Given the description of an element on the screen output the (x, y) to click on. 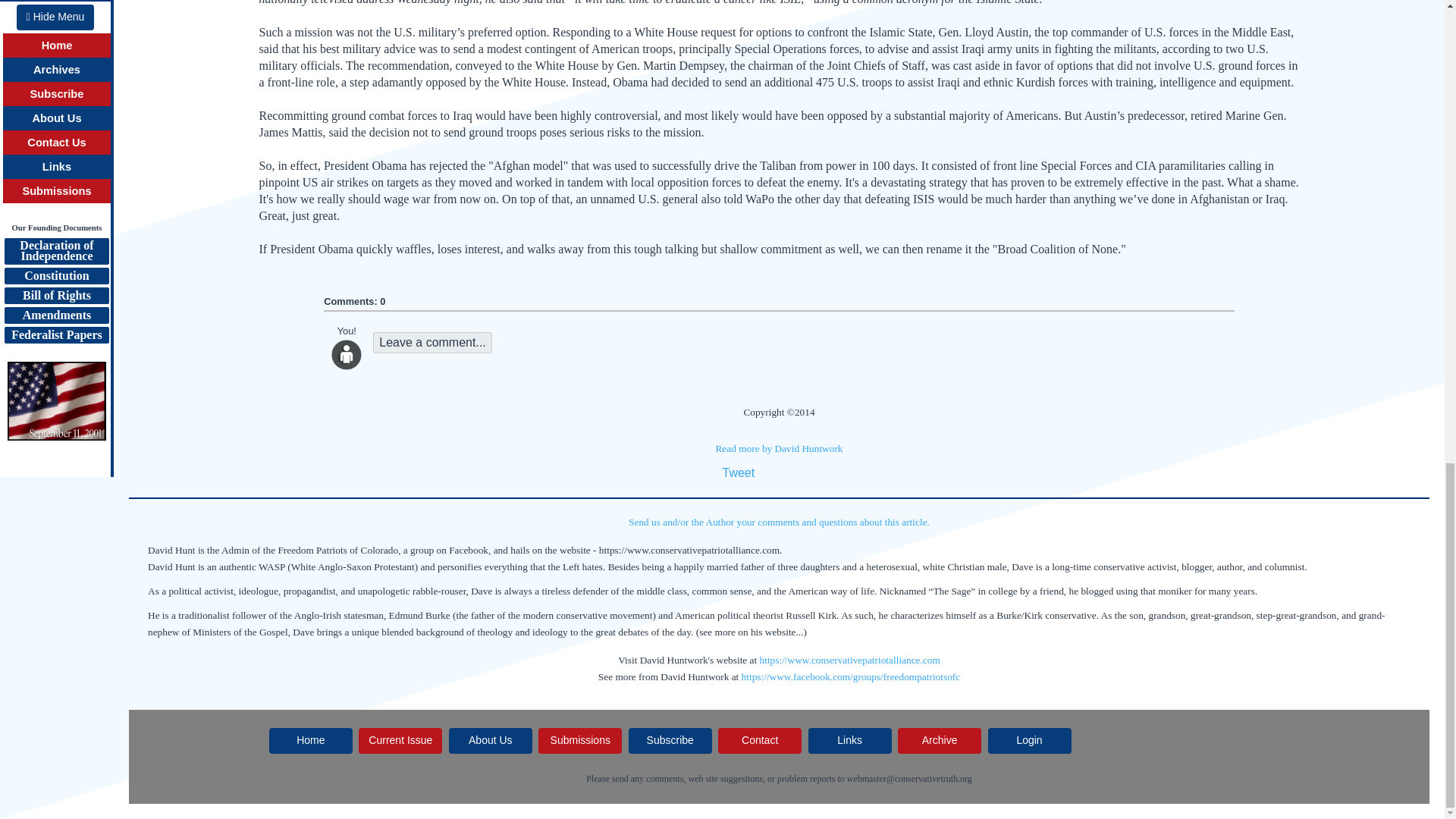
Submissions (579, 740)
Tweet (738, 472)
Links (849, 740)
Archive (939, 740)
Subscribe (669, 740)
Login (1029, 740)
Leave a comment... (432, 342)
About Us (490, 740)
Read more by David Huntwork (778, 448)
Current Issue (400, 740)
Contact (759, 740)
Home (310, 740)
